Given the description of an element on the screen output the (x, y) to click on. 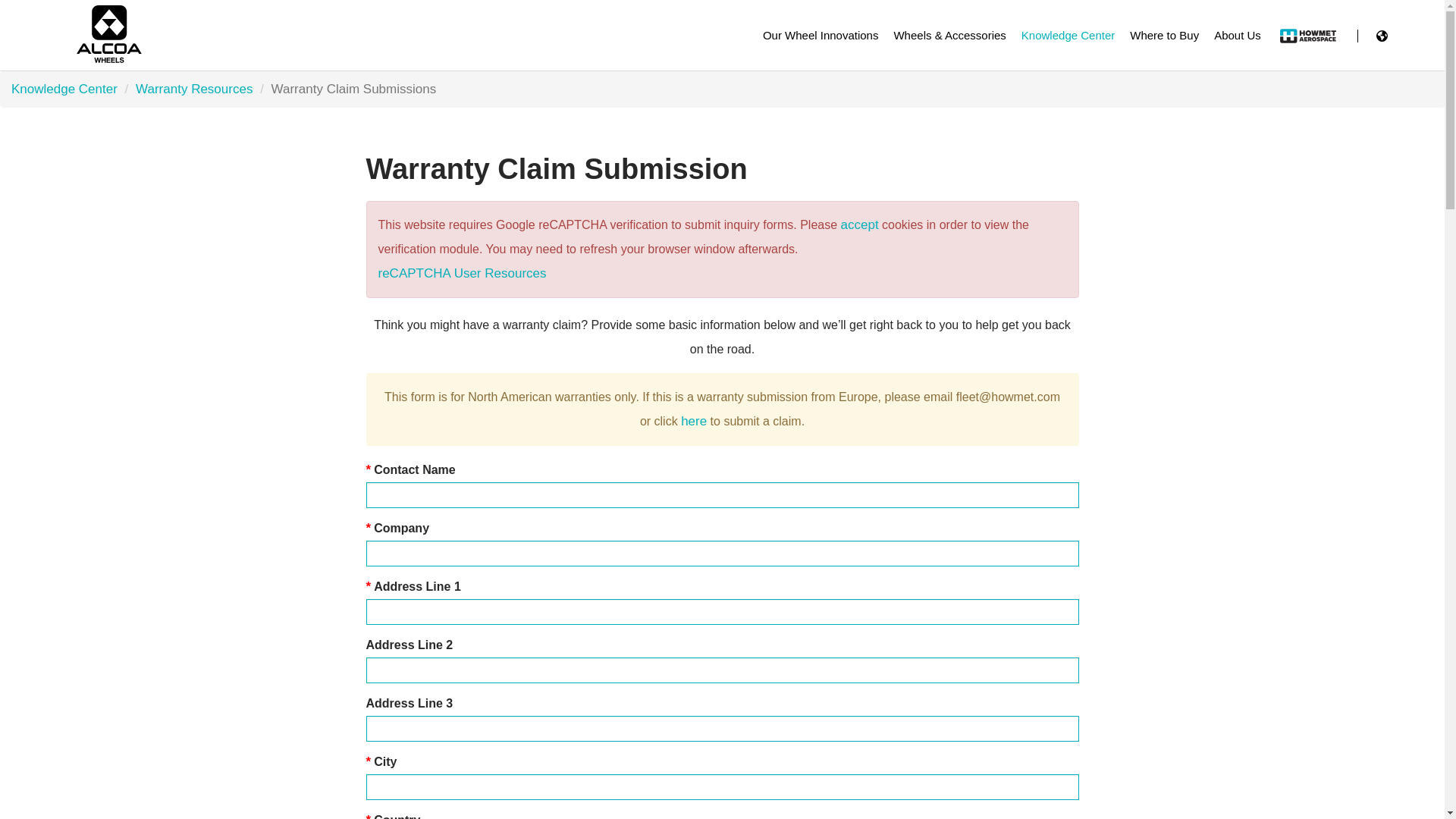
Knowledge Center (1068, 34)
Our Wheel Innovations (820, 34)
Fleet Service Center - Wheel Registration Form (693, 421)
